Given the description of an element on the screen output the (x, y) to click on. 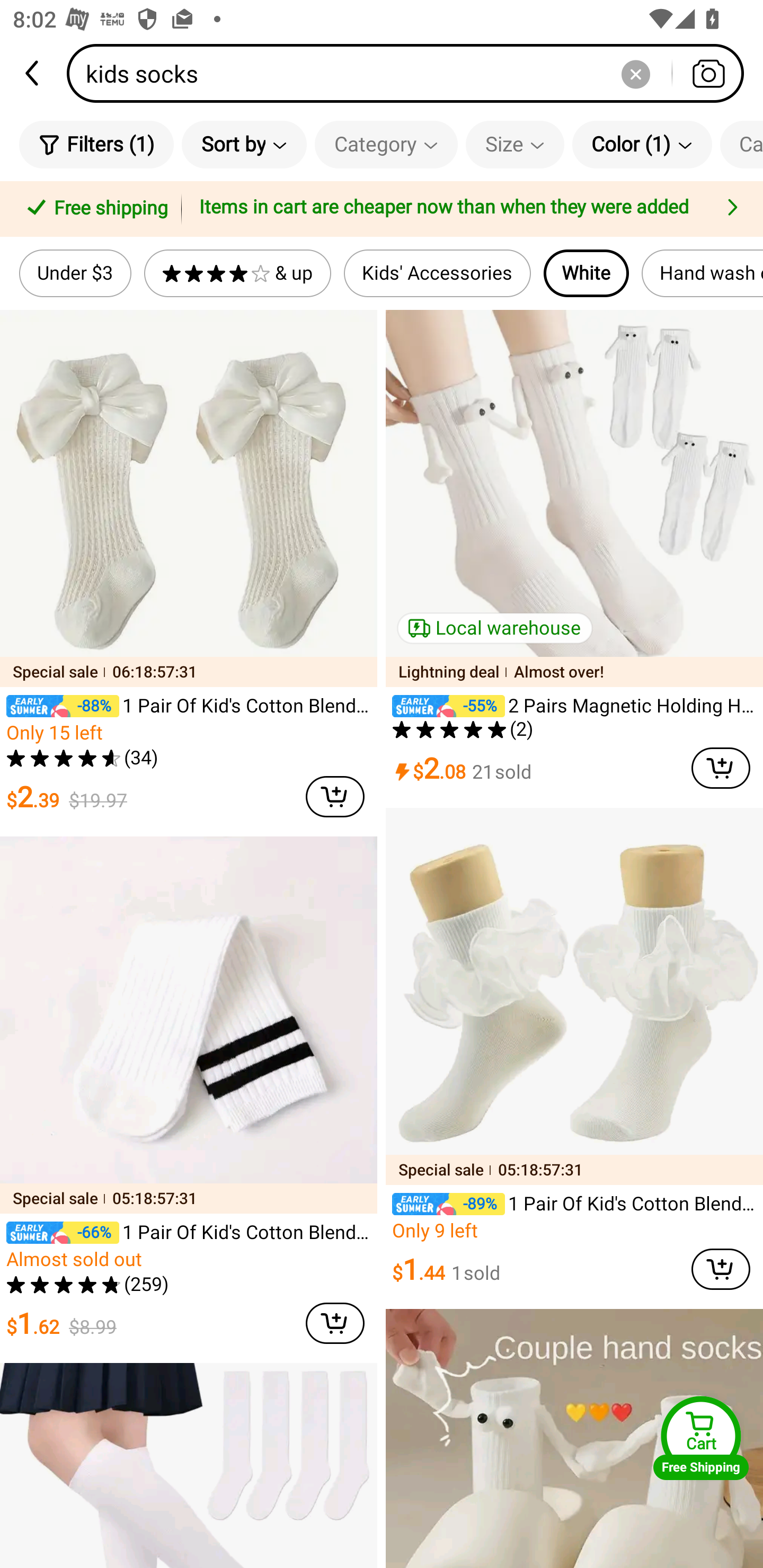
back (33, 72)
kids socks (411, 73)
Delete search history (635, 73)
Search by photo (708, 73)
Filters (1) (96, 143)
Sort by (243, 143)
Category (385, 143)
Size (514, 143)
Color (1) (641, 143)
 Free shipping (93, 208)
Under $3 (75, 273)
& up (237, 273)
Kids' Accessories (437, 273)
White (585, 273)
Hand wash only (702, 273)
